Given the description of an element on the screen output the (x, y) to click on. 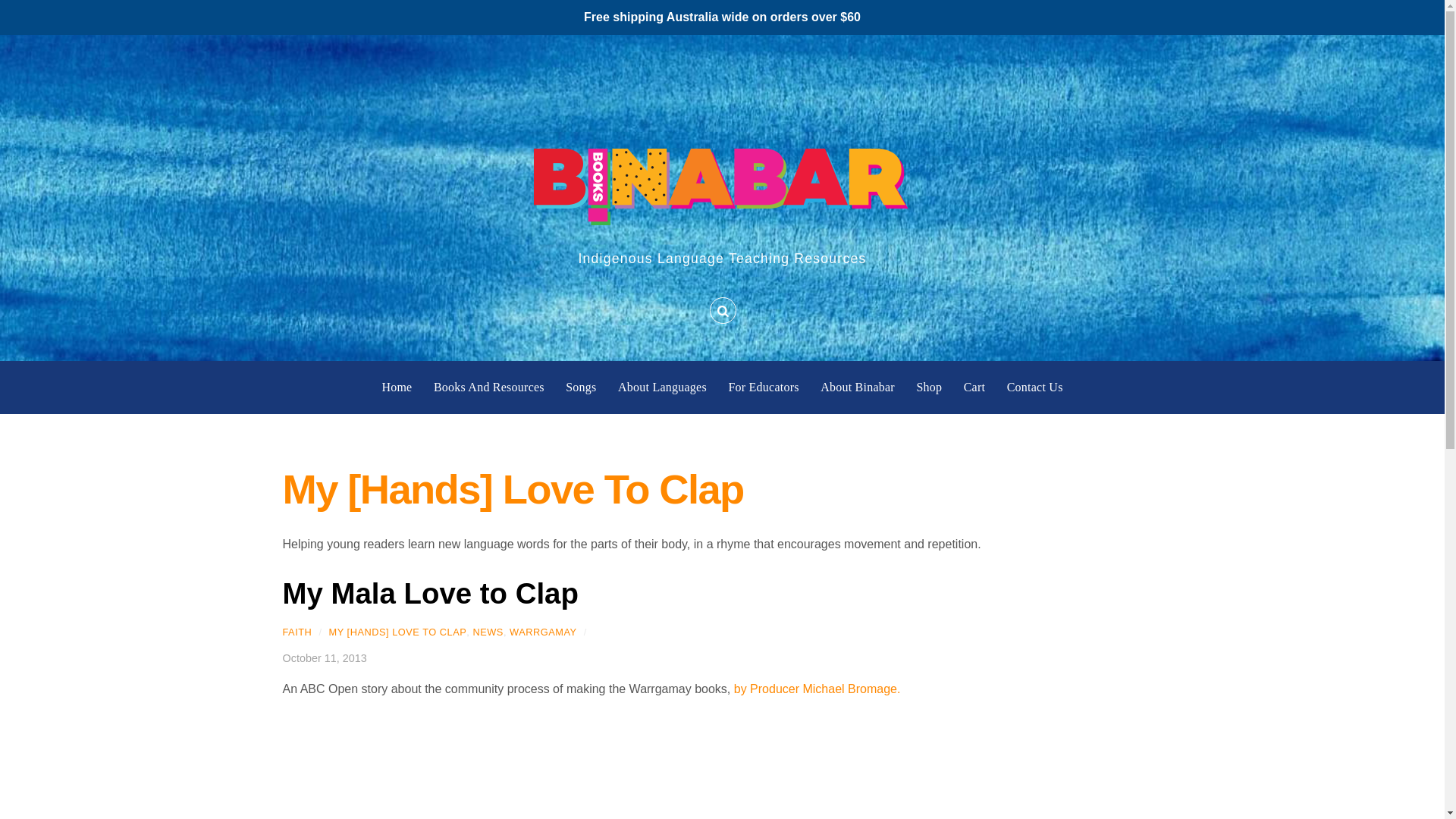
About Languages (661, 387)
My Mala Love to Clap (430, 593)
WARRGAMAY (542, 632)
by Producer Michael Bromage. (817, 688)
FAITH (296, 632)
Contact Us (1034, 387)
For Educators (762, 387)
Books And Resources (488, 387)
About Binabar (858, 387)
NEWS (486, 632)
ABC Open  (817, 688)
Binabar Books (721, 180)
